Given the description of an element on the screen output the (x, y) to click on. 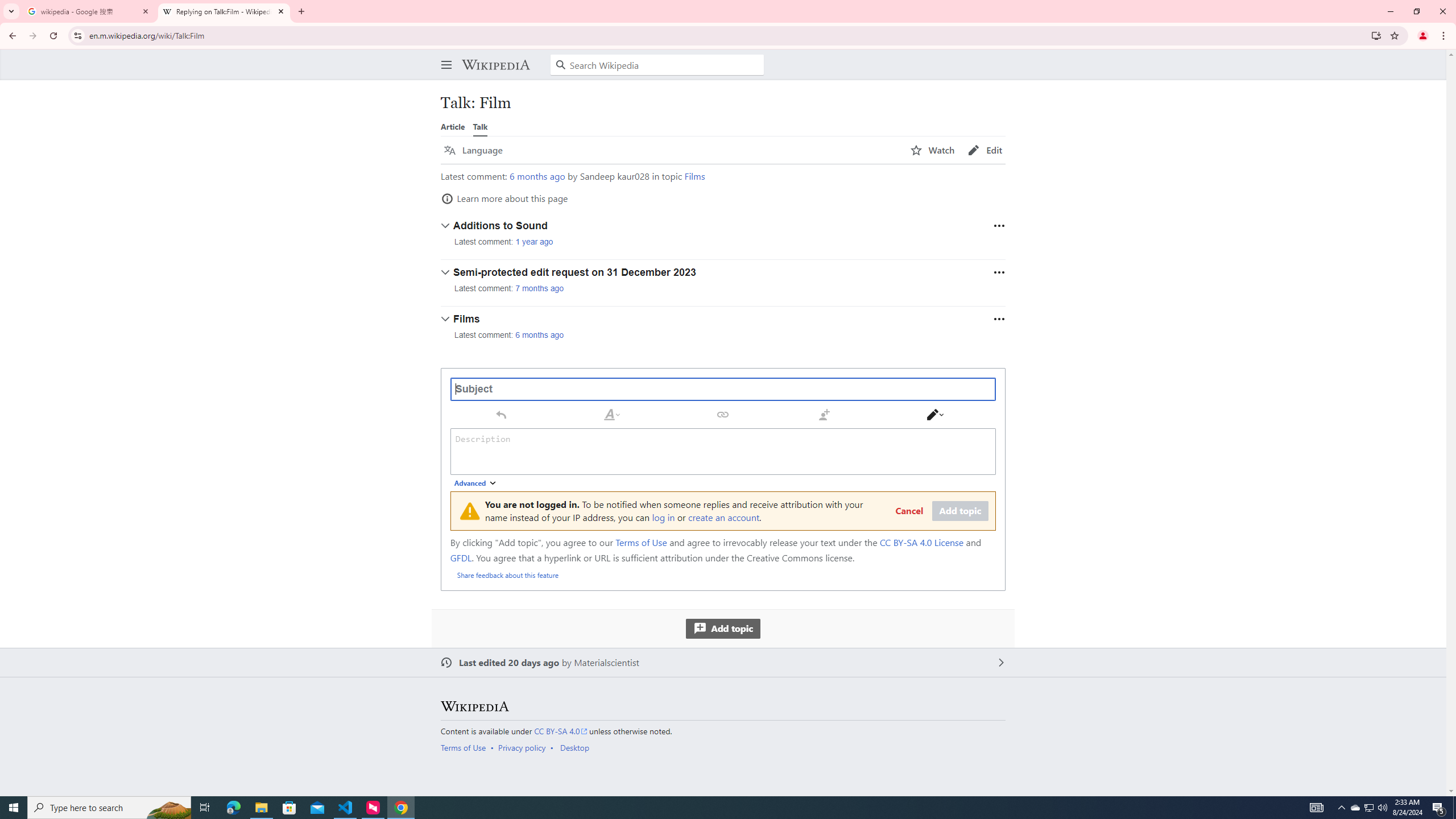
Edit (984, 149)
create an account (724, 517)
Advanced (475, 483)
AutomationID: page-actions-watch (932, 150)
Terms of Use (462, 747)
Style text (611, 414)
Subject (722, 388)
AutomationID: main-menu-input (443, 55)
